Given the description of an element on the screen output the (x, y) to click on. 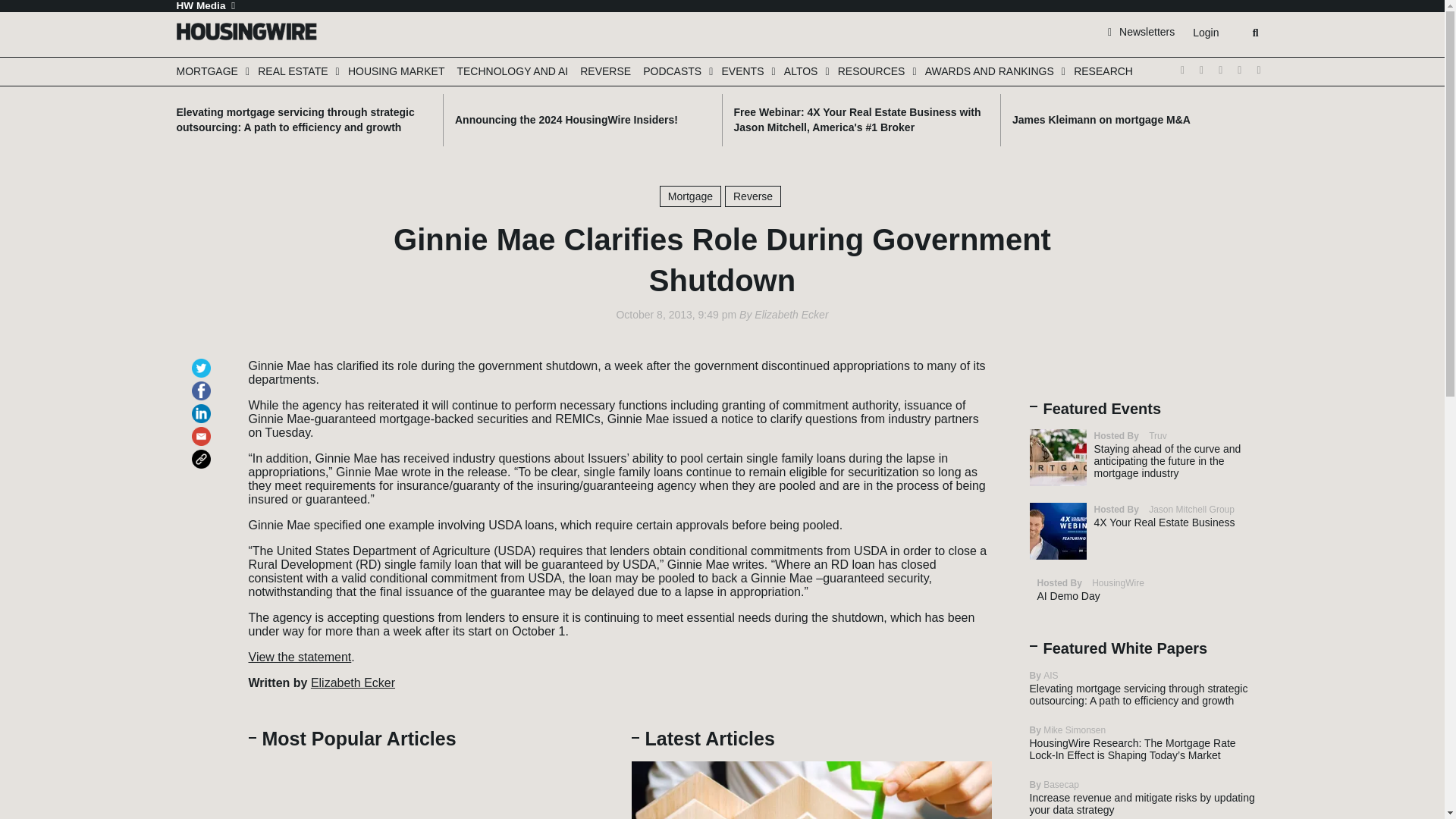
Click to share on Twitter (203, 360)
Login (1205, 32)
Newsletters (1141, 31)
Click to share on LinkedIn (203, 406)
Click to share on Facebook (203, 383)
Click to email a link to a friend (203, 429)
Posts by Elizabeth Ecker (791, 314)
Click to copy link (203, 452)
